Given the description of an element on the screen output the (x, y) to click on. 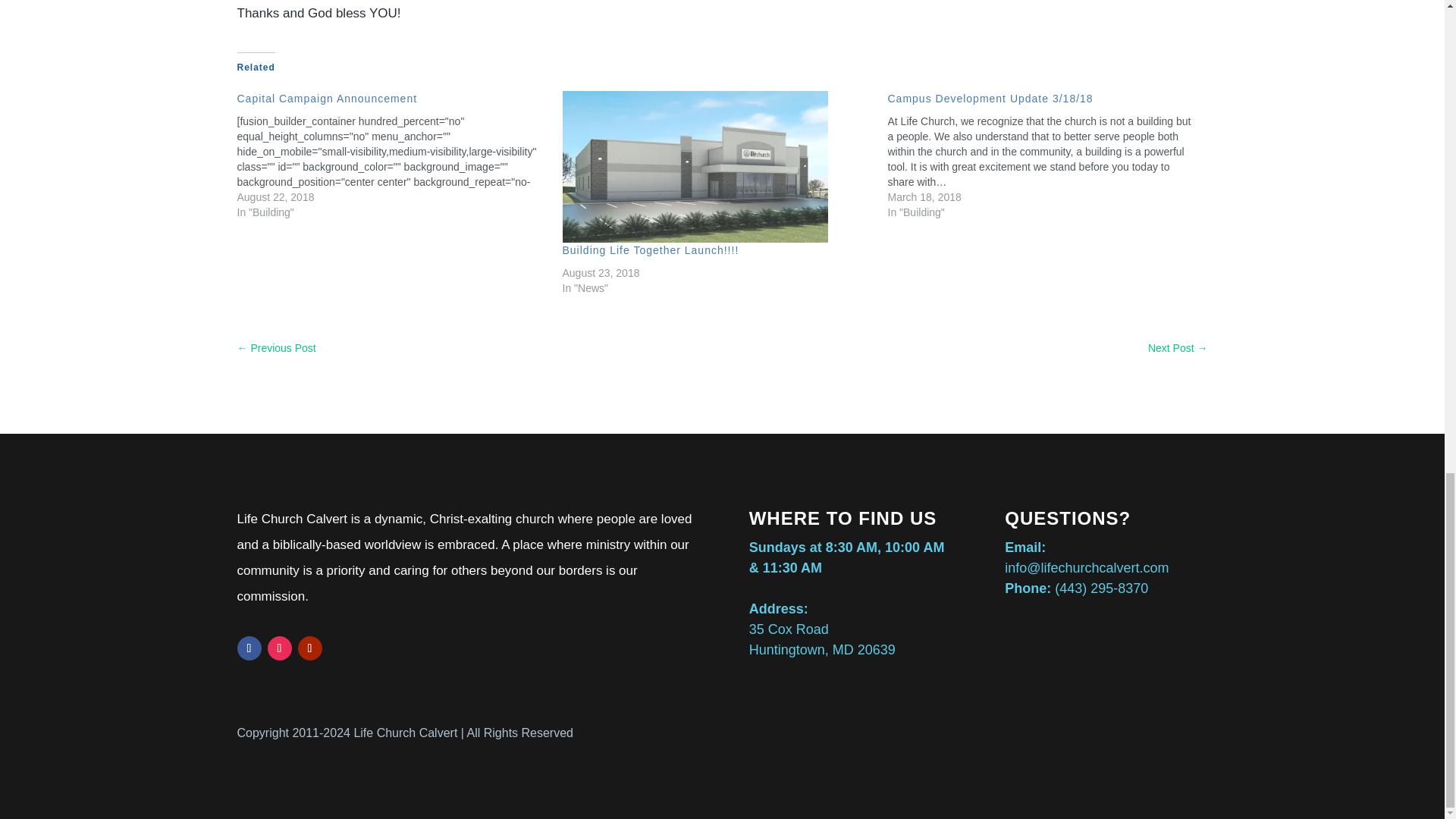
Follow on Instagram (278, 648)
Building Life Together Launch!!!! (650, 250)
Capital Campaign Announcement (398, 155)
Building Life Together Launch!!!! (717, 166)
Follow on Youtube (309, 648)
Capital Campaign Announcement (325, 98)
Follow on Facebook (247, 648)
